Given the description of an element on the screen output the (x, y) to click on. 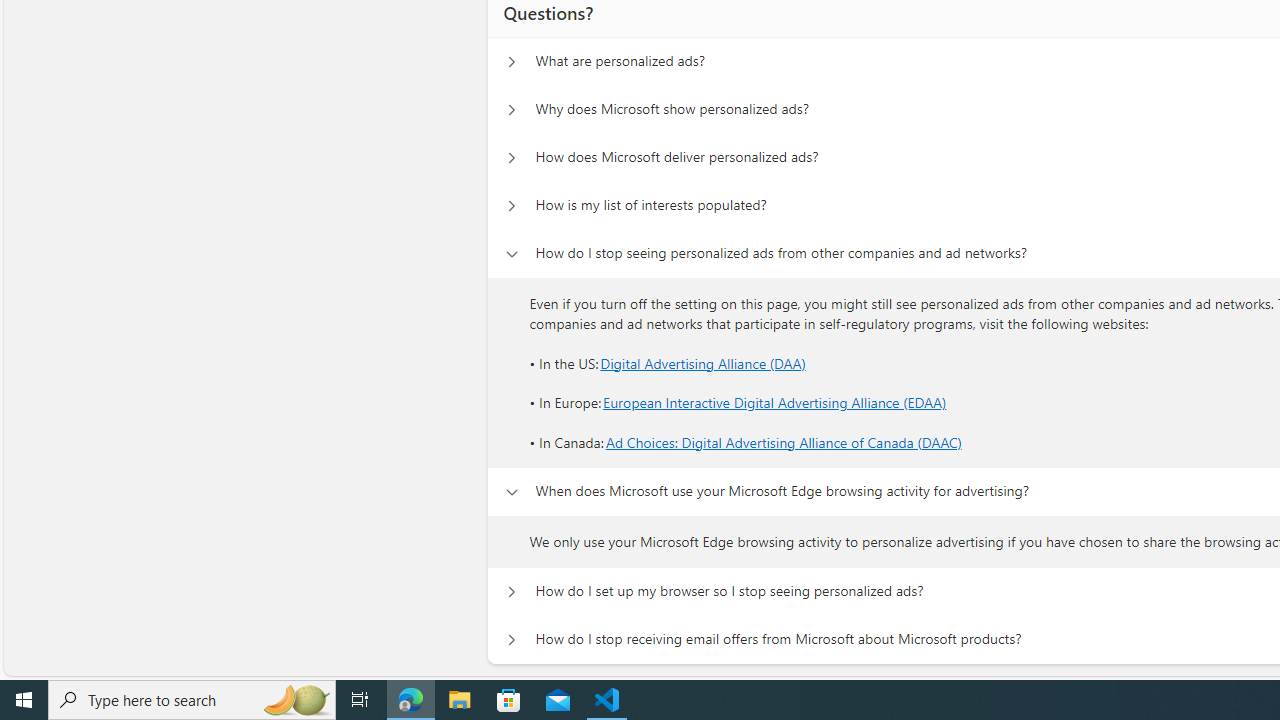
European Interactive Digital Advertising Alliance (EDAA) (774, 403)
Questions? How is my list of interests populated? (511, 206)
Questions? What are personalized ads? (511, 62)
Digital Advertising Alliance (DAA) (703, 362)
Questions? Why does Microsoft show personalized ads? (511, 110)
Ad Choices: Digital Advertising Alliance of Canada (DAAC) (783, 442)
Questions? How does Microsoft deliver personalized ads? (511, 157)
